Given the description of an element on the screen output the (x, y) to click on. 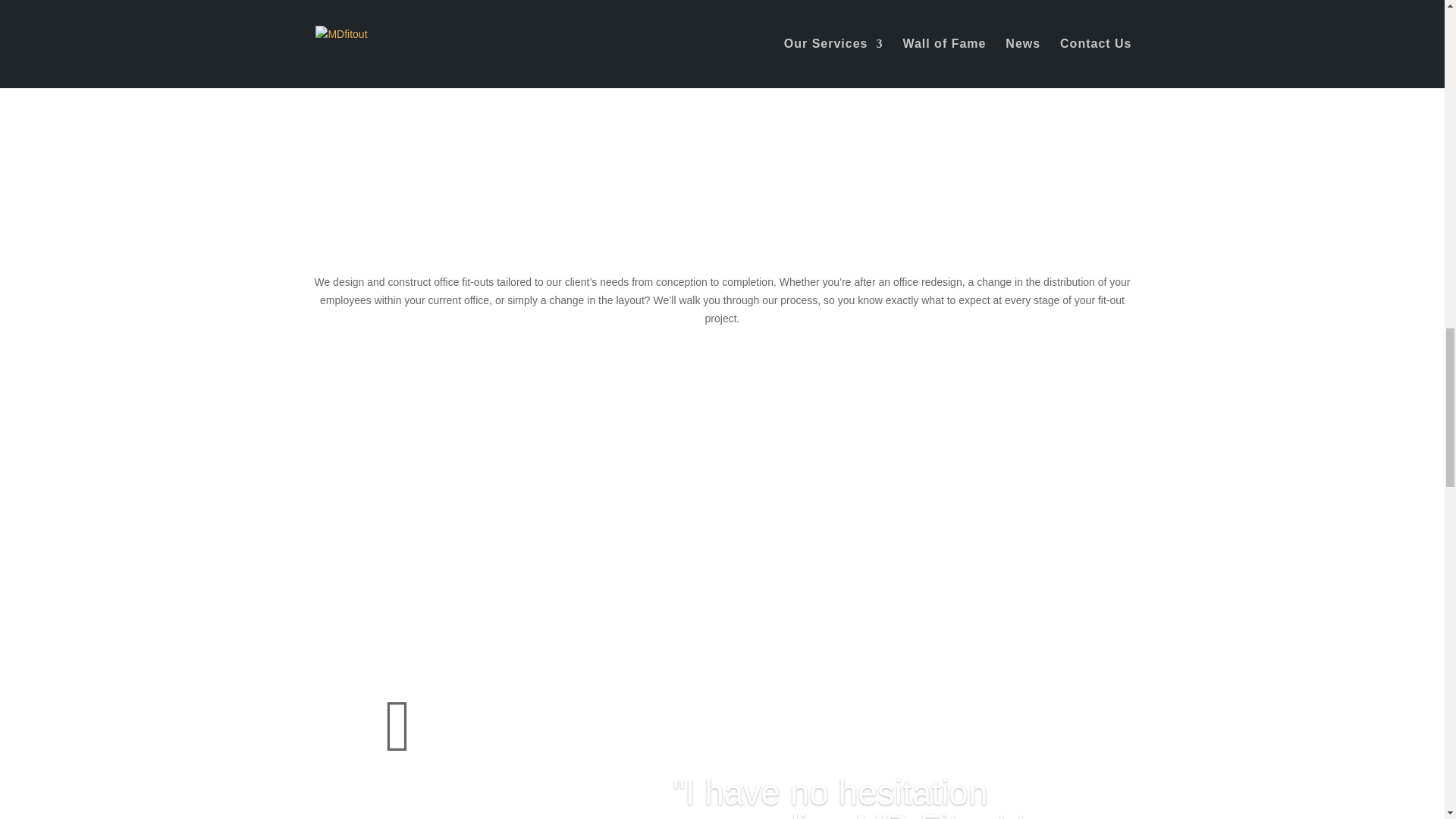
4X1A4613 (578, 50)
